Given the description of an element on the screen output the (x, y) to click on. 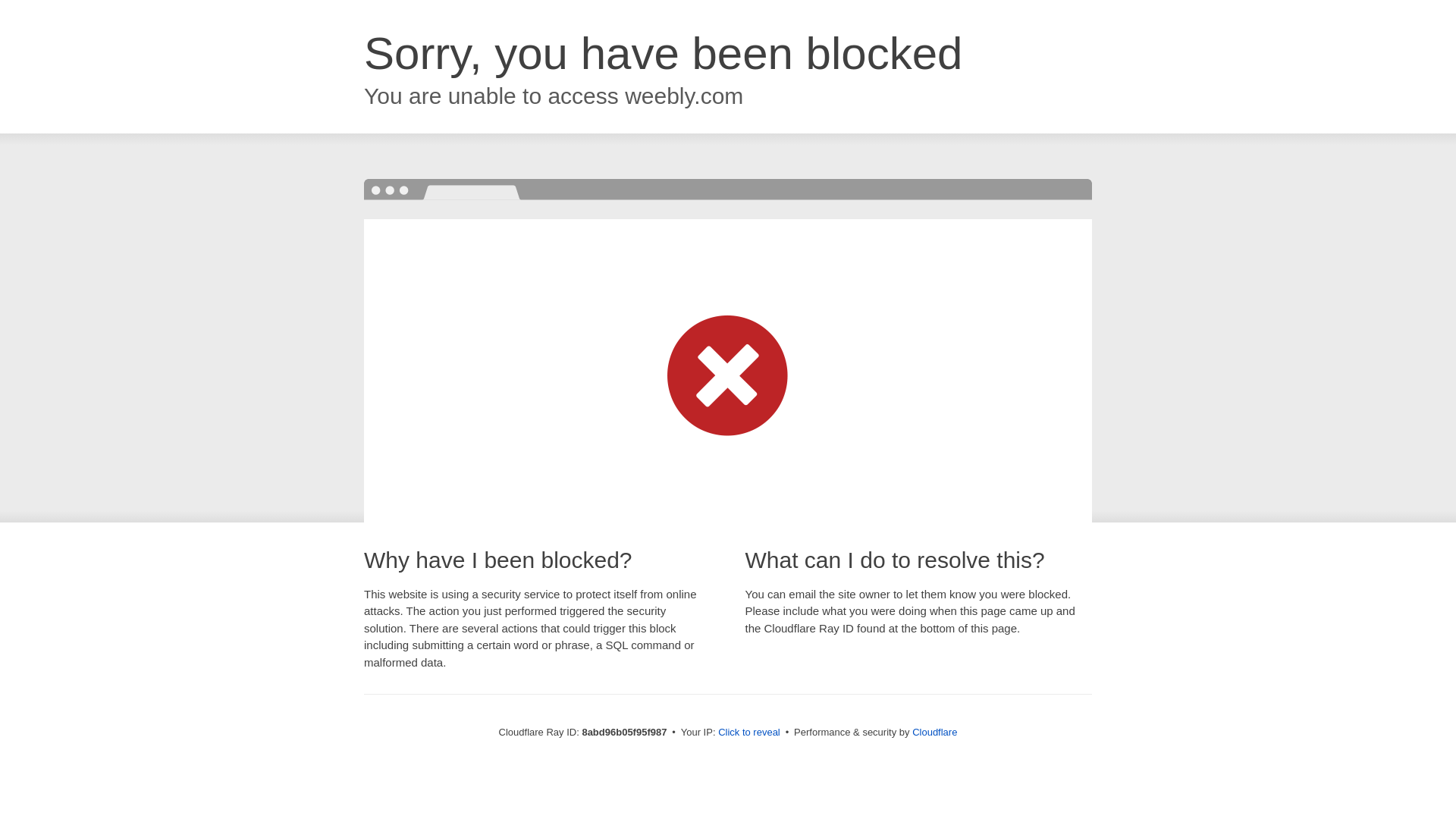
Cloudflare (934, 731)
Click to reveal (748, 732)
